Given the description of an element on the screen output the (x, y) to click on. 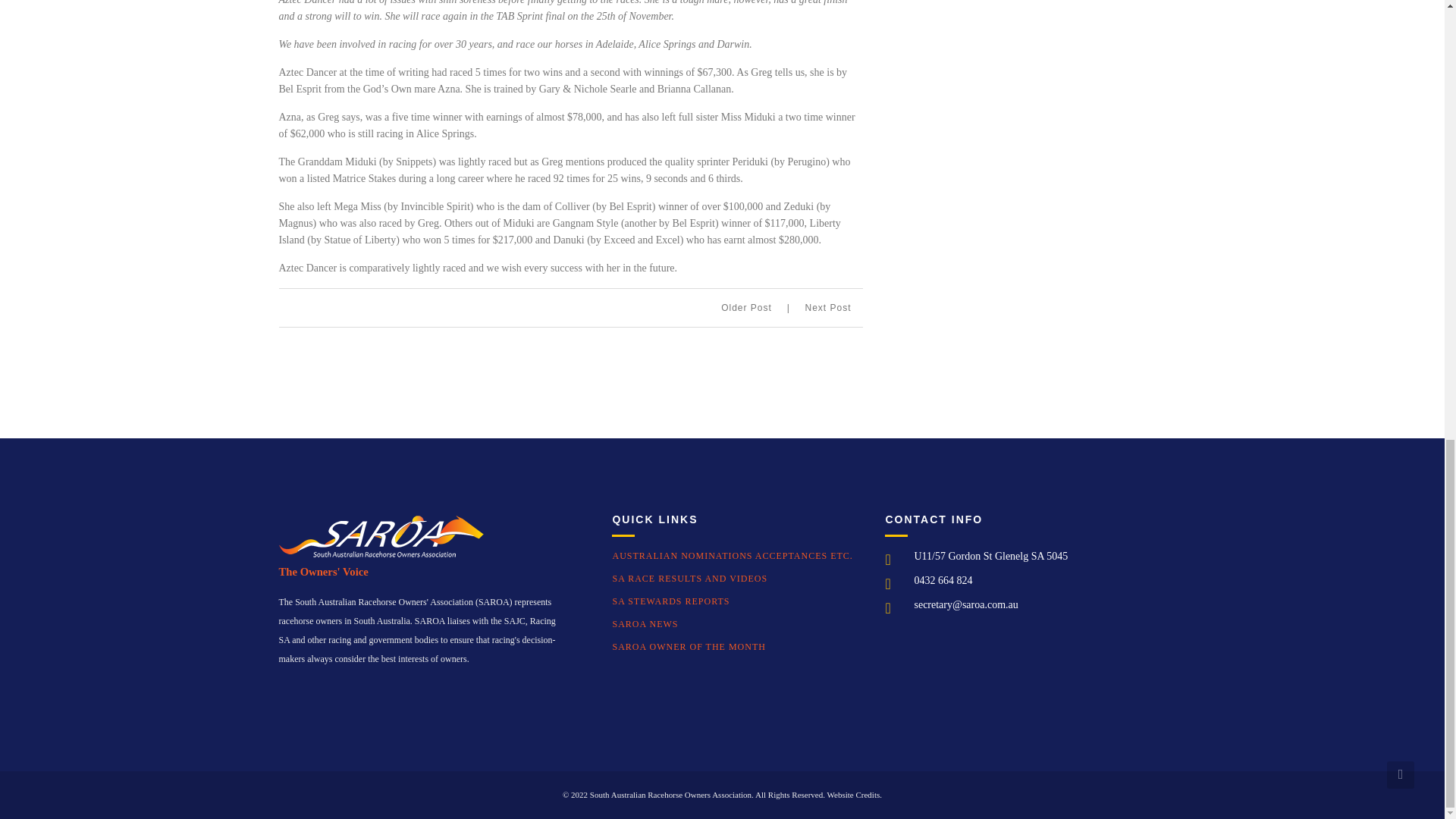
AUSTRALIAN NOMINATIONS ACCEPTANCES ETC. (731, 555)
SA STEWARDS REPORTS (670, 601)
SAROA NEWS (644, 624)
Older Post (755, 307)
SA RACE RESULTS AND VIDEOS (689, 578)
Website Credits (853, 794)
Next Post (827, 307)
SAROA OWNER OF THE MONTH (688, 646)
